Given the description of an element on the screen output the (x, y) to click on. 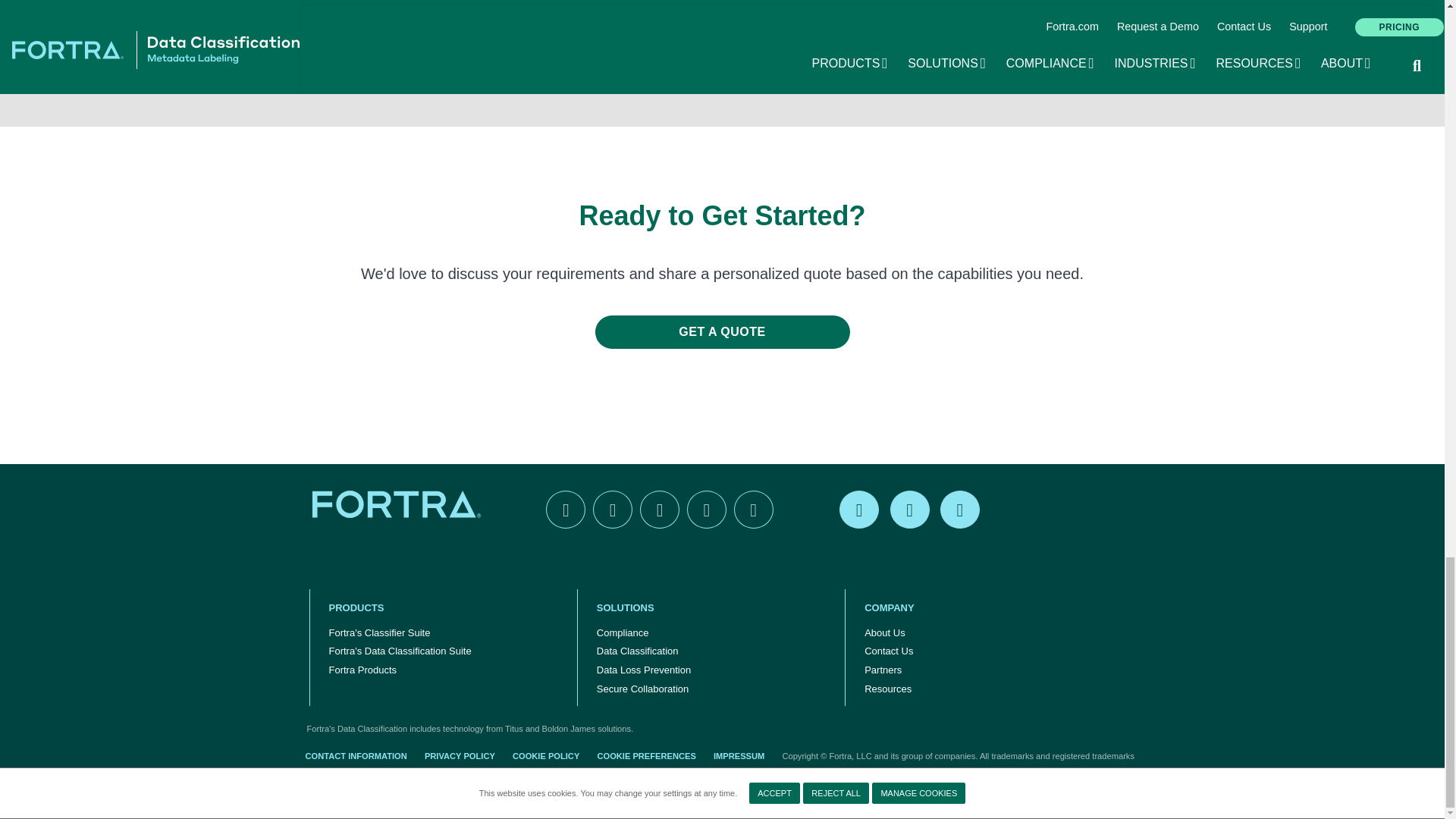
Home (398, 503)
